Given the description of an element on the screen output the (x, y) to click on. 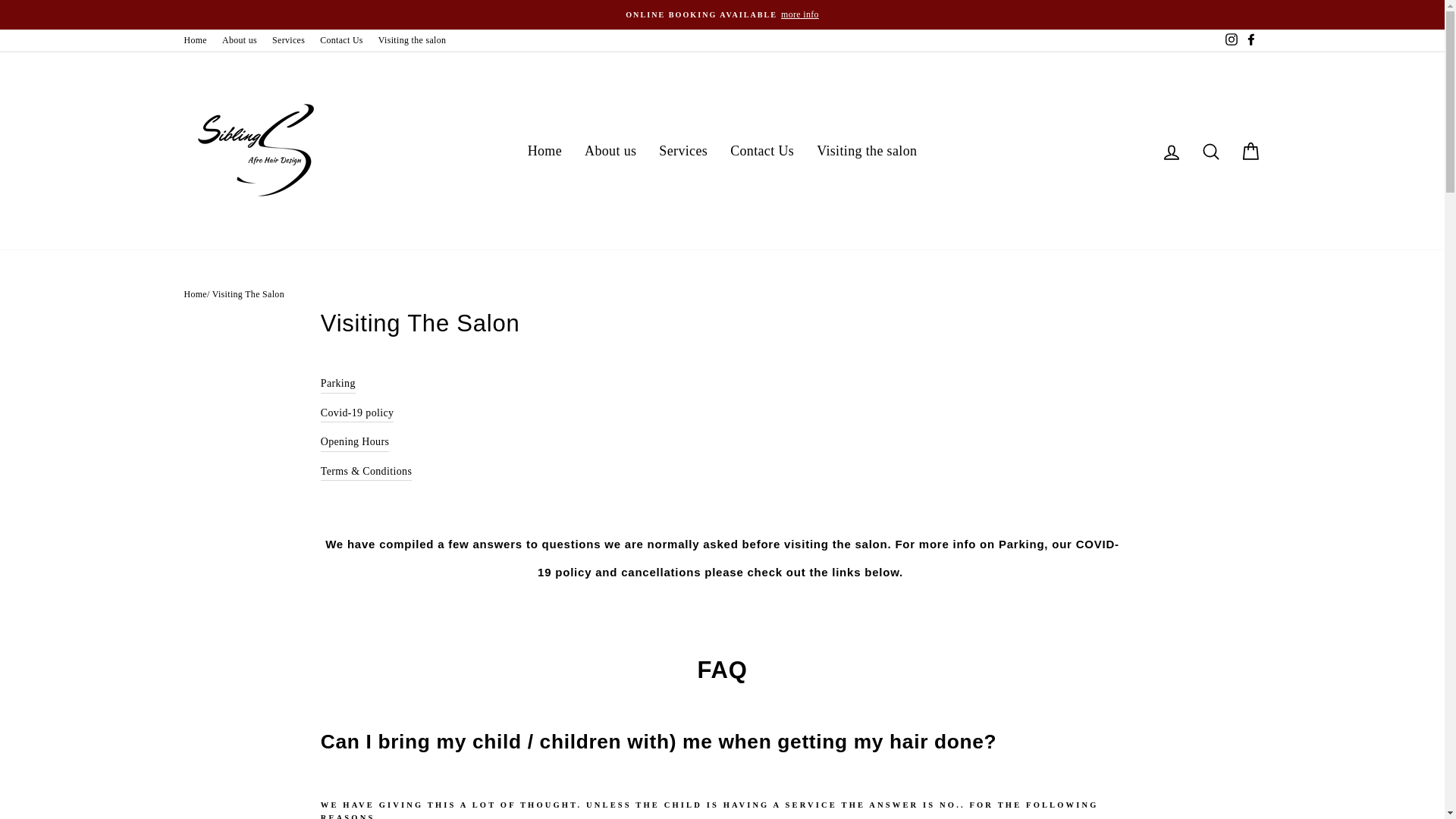
Back to the frontpage (194, 294)
Home (195, 40)
ONLINE BOOKING AVAILABLEmore info (722, 14)
Siblings Afro Hair Design on Instagram (1230, 40)
Siblings Afro Hair Design on Facebook (1250, 40)
